Given the description of an element on the screen output the (x, y) to click on. 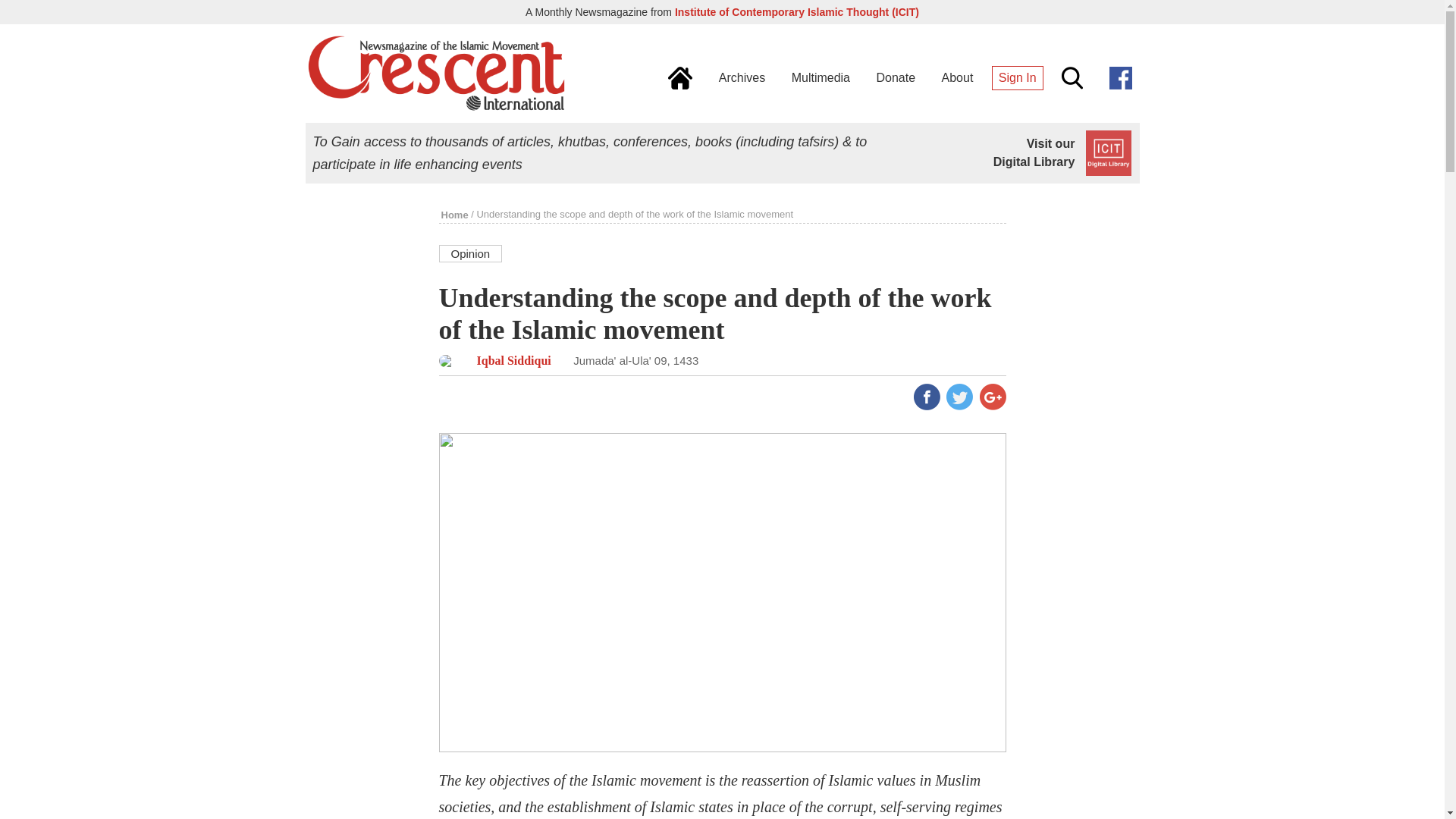
Home (676, 76)
About (953, 76)
Archives (738, 76)
Share on Facebook (925, 395)
Sign In (1013, 76)
Iqbal Siddiqui (503, 359)
Sign In (1013, 76)
Donate (891, 76)
Opinion (470, 251)
Home (454, 214)
